Given the description of an element on the screen output the (x, y) to click on. 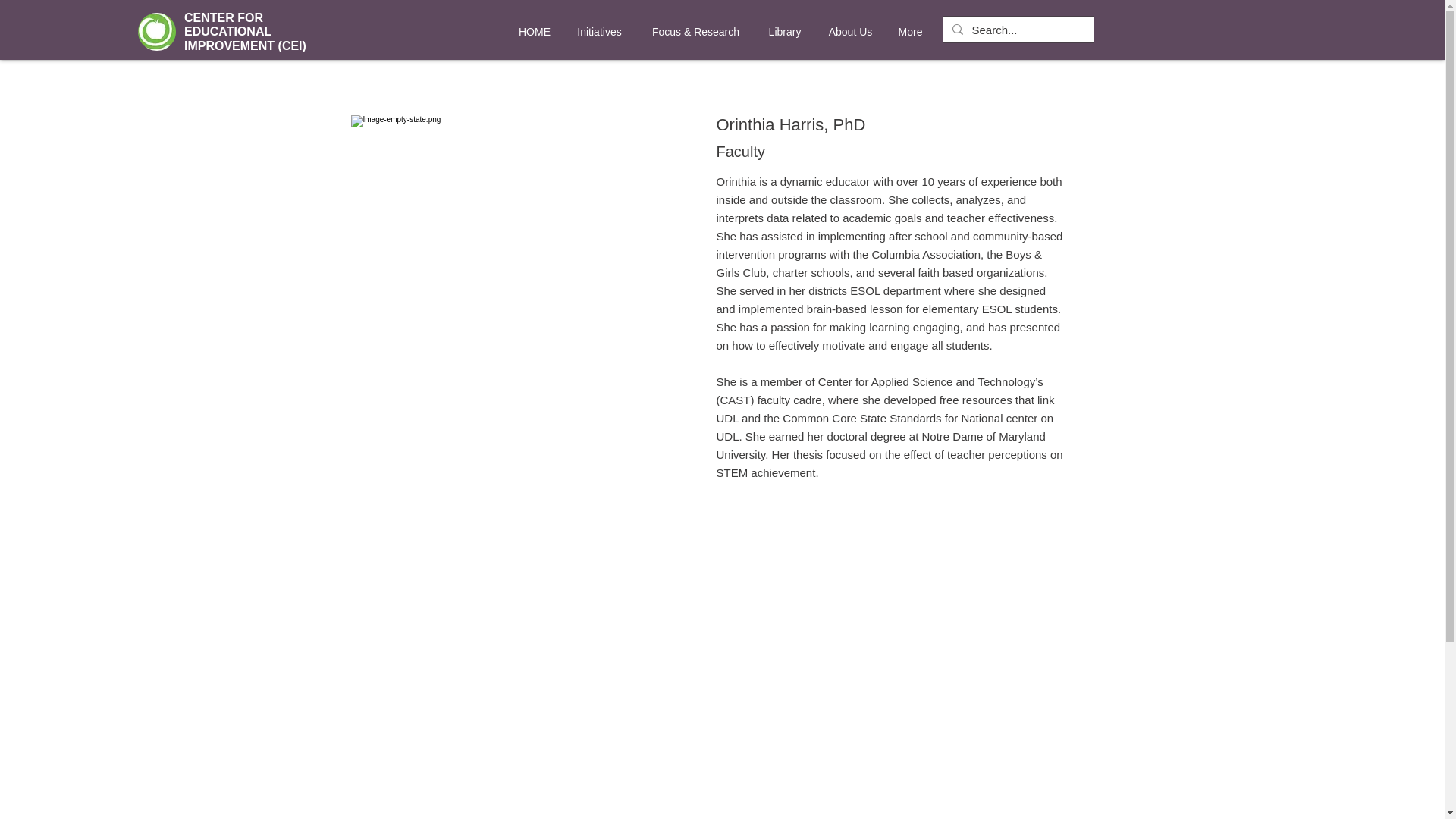
Orinthia-Harris-Headshot.png (517, 281)
Initiatives (599, 32)
HOME (534, 32)
About Us (849, 32)
Library (785, 32)
